Given the description of an element on the screen output the (x, y) to click on. 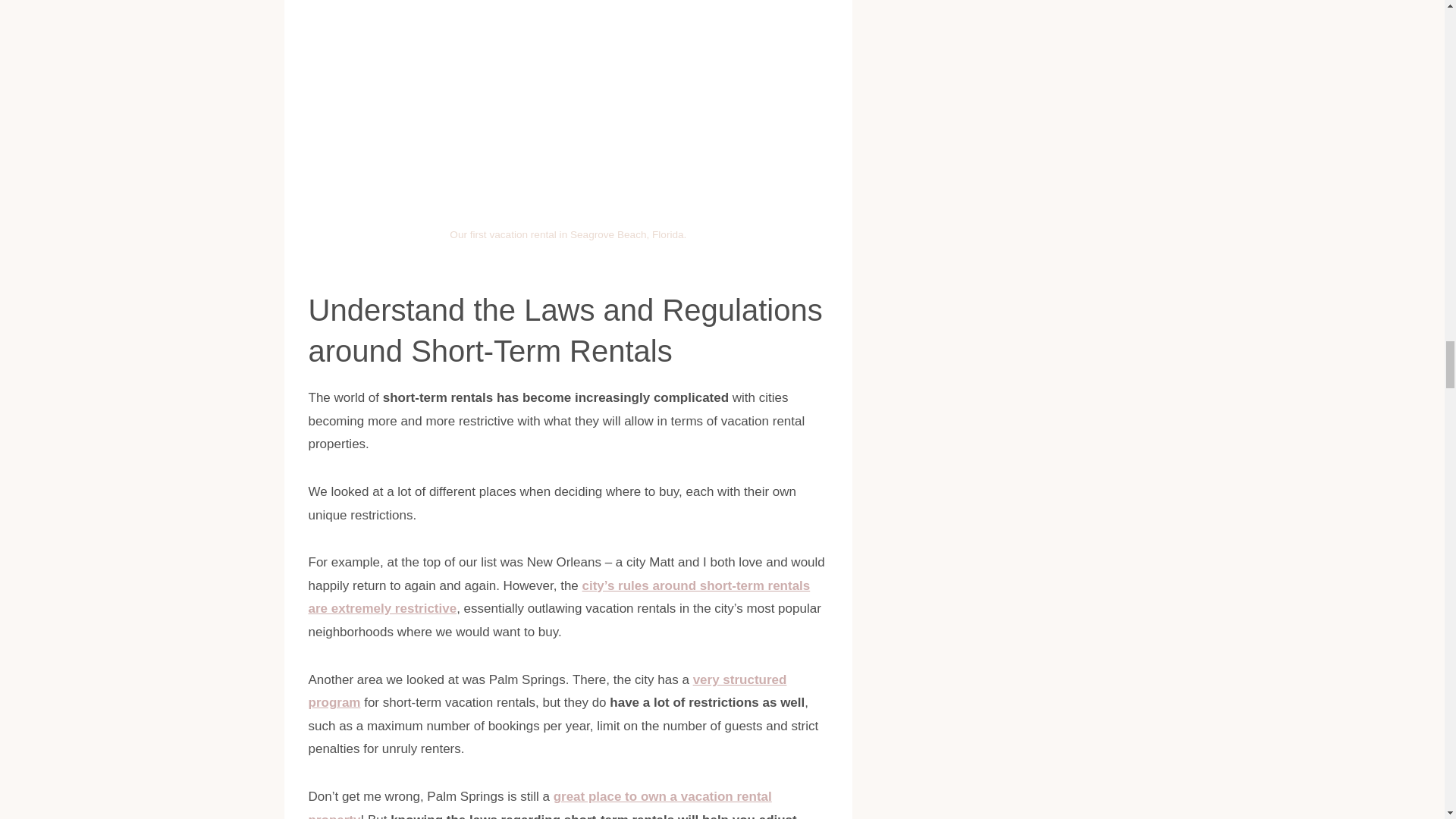
very structured program (546, 691)
great place to own a vacation rental property (539, 804)
